Given the description of an element on the screen output the (x, y) to click on. 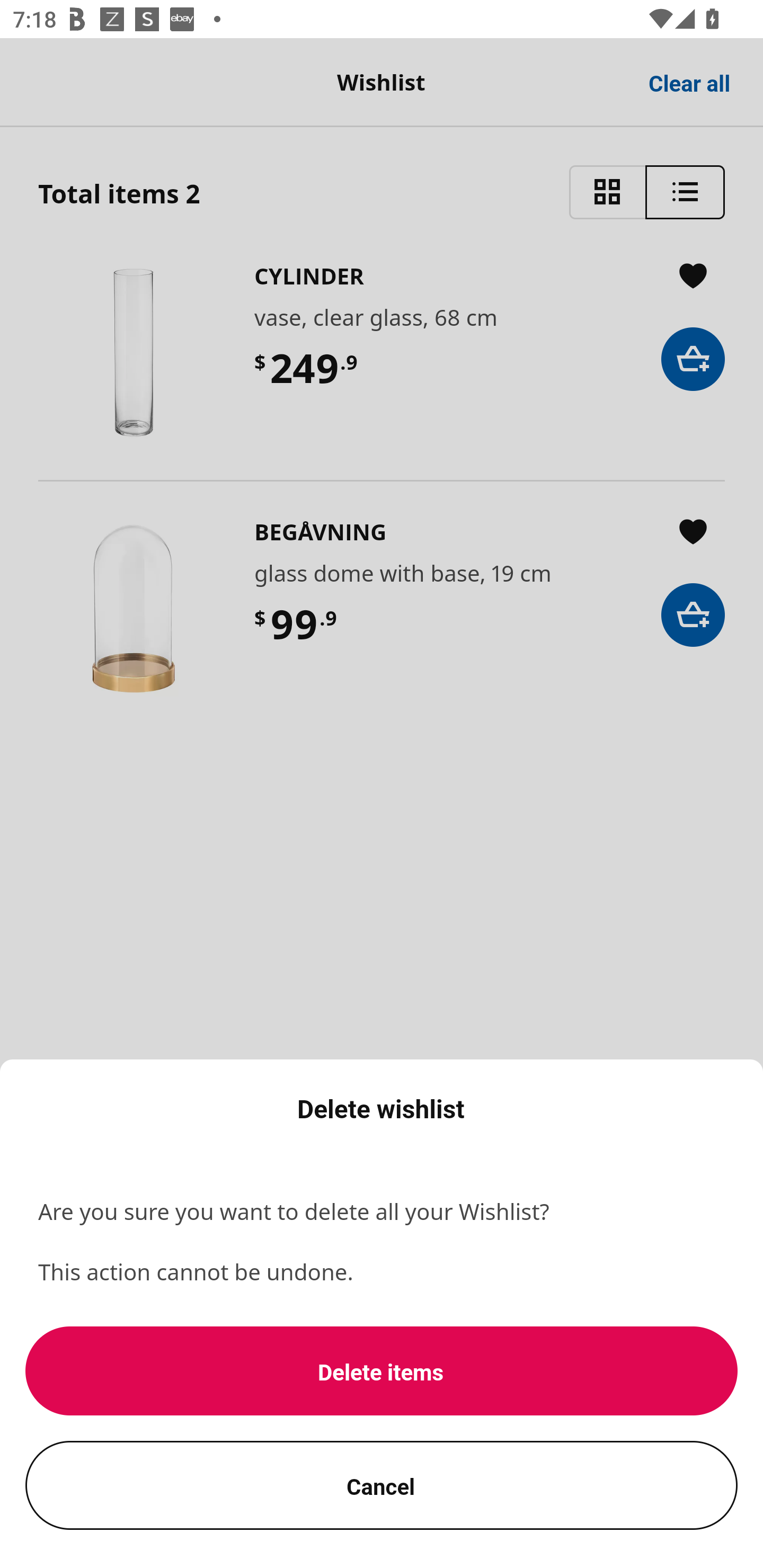
Delete items (381, 1370)
Cancel (381, 1485)
